Given the description of an element on the screen output the (x, y) to click on. 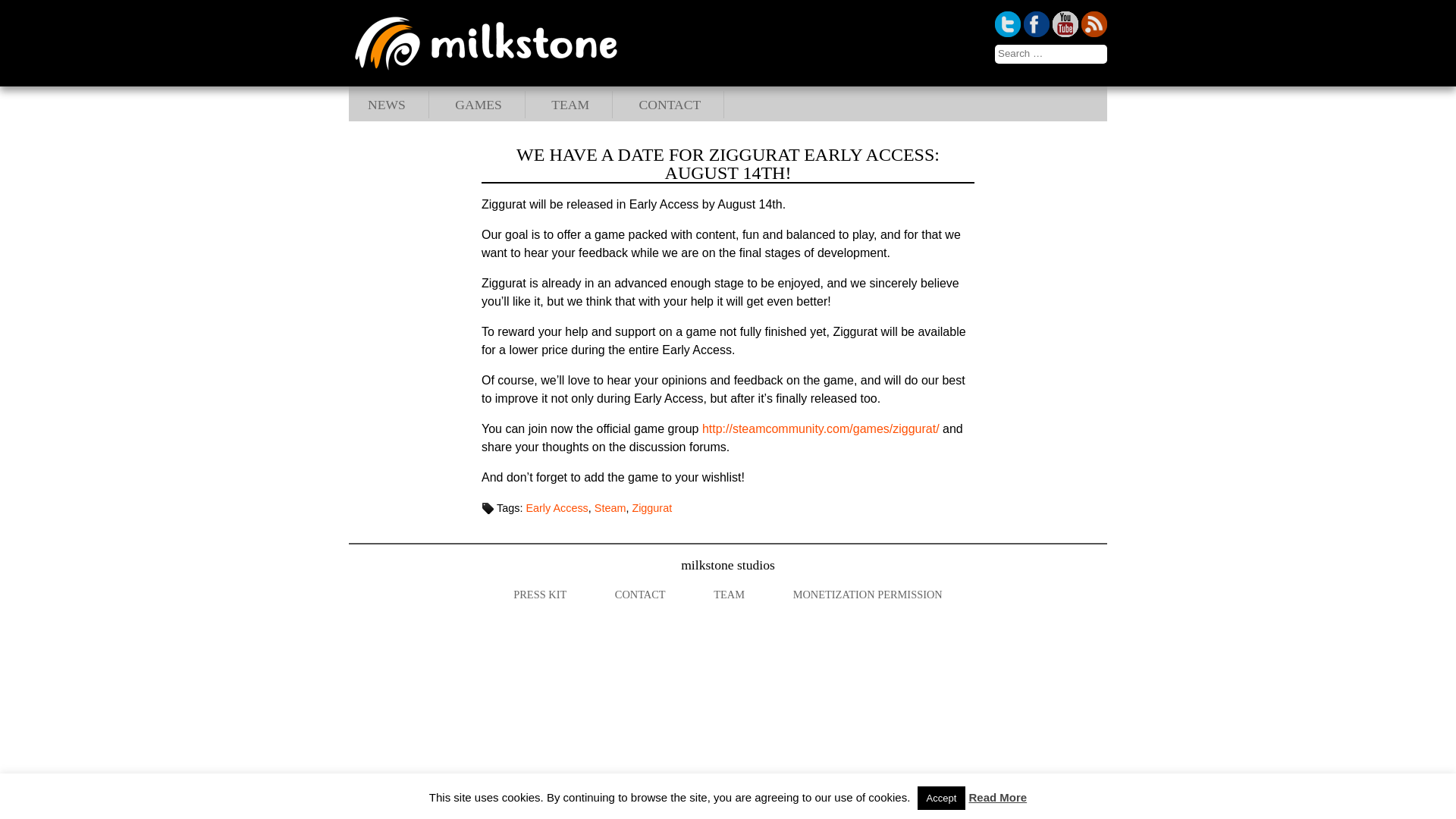
CONTACT (639, 594)
We have a date for Ziggurat Early Access: August 14th! (727, 163)
WE HAVE A DATE FOR ZIGGURAT EARLY ACCESS: AUGUST 14TH! (727, 163)
MONETIZATION PERMISSION (867, 594)
NEWS (387, 104)
TEAM (570, 104)
GAMES (478, 104)
Early Access (556, 508)
Steam (610, 508)
CONTACT (669, 104)
